Given the description of an element on the screen output the (x, y) to click on. 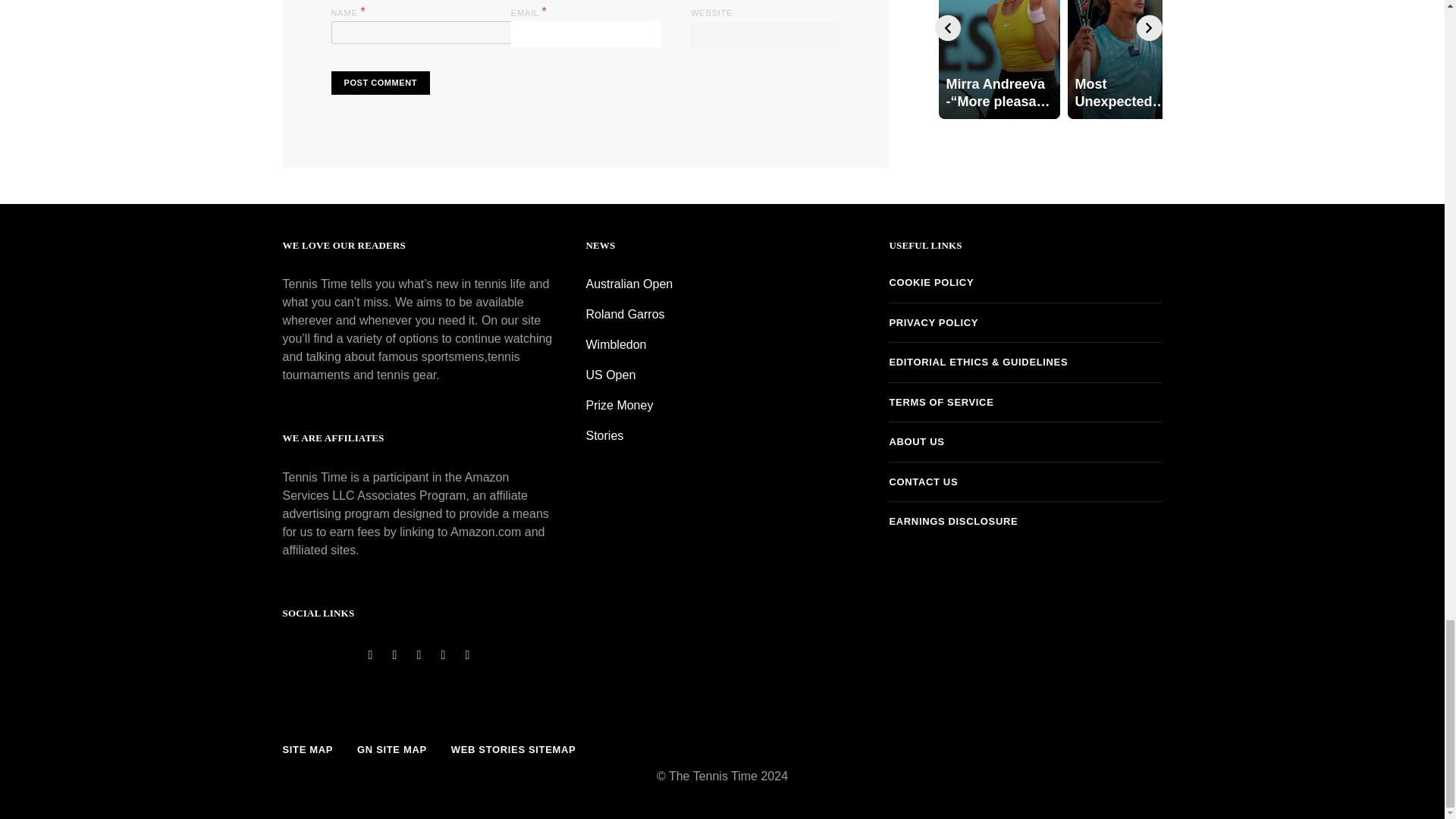
Post Comment (379, 83)
